Given the description of an element on the screen output the (x, y) to click on. 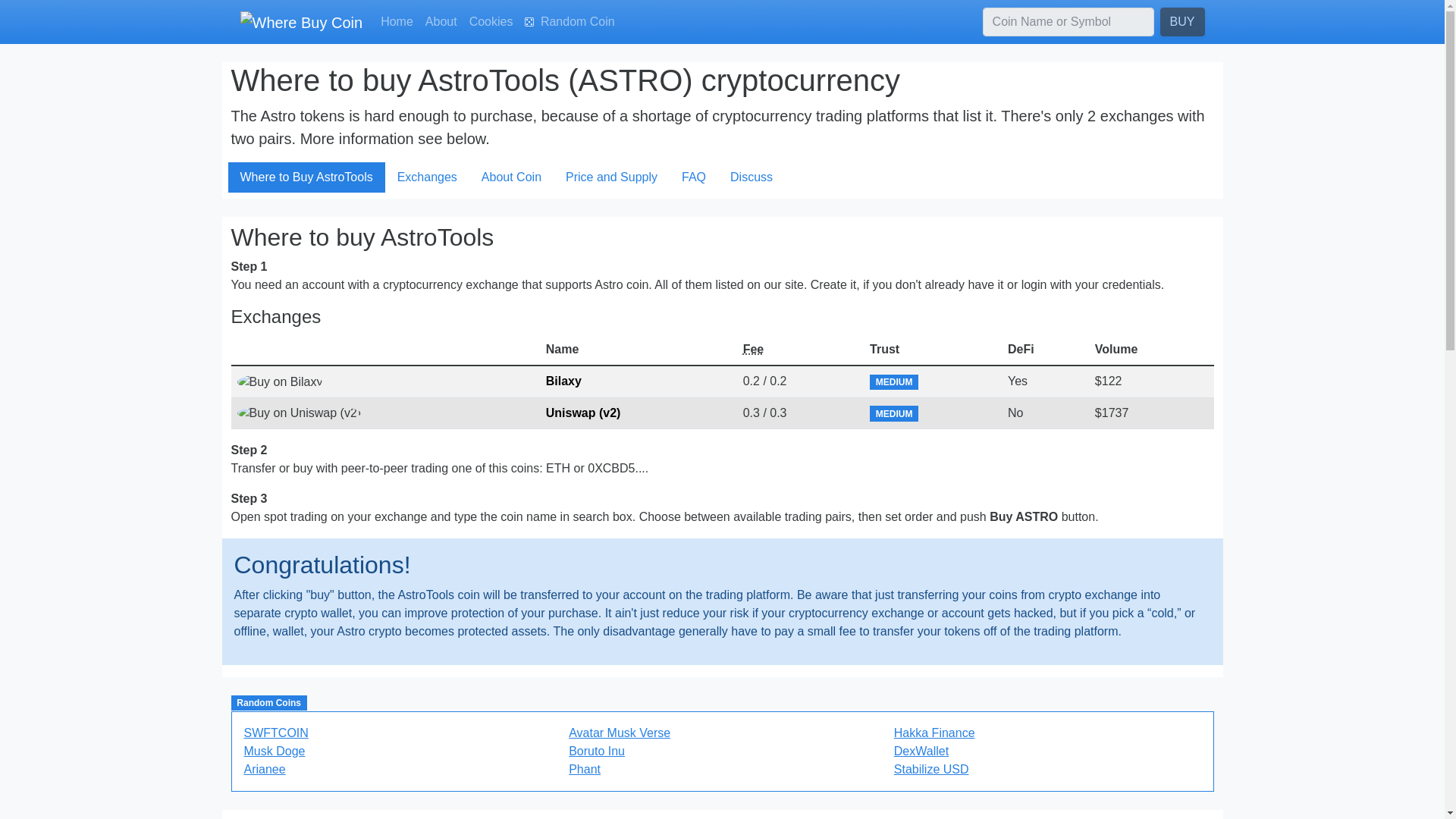
BUY (1182, 21)
FAQ (693, 177)
Cookies (491, 21)
DexWallet (921, 750)
Avatar Musk Verse (619, 732)
SWFTCOIN (276, 732)
Random Coin (569, 21)
Stabilize USD (931, 768)
About Site Team (441, 21)
Phant (584, 768)
